Given the description of an element on the screen output the (x, y) to click on. 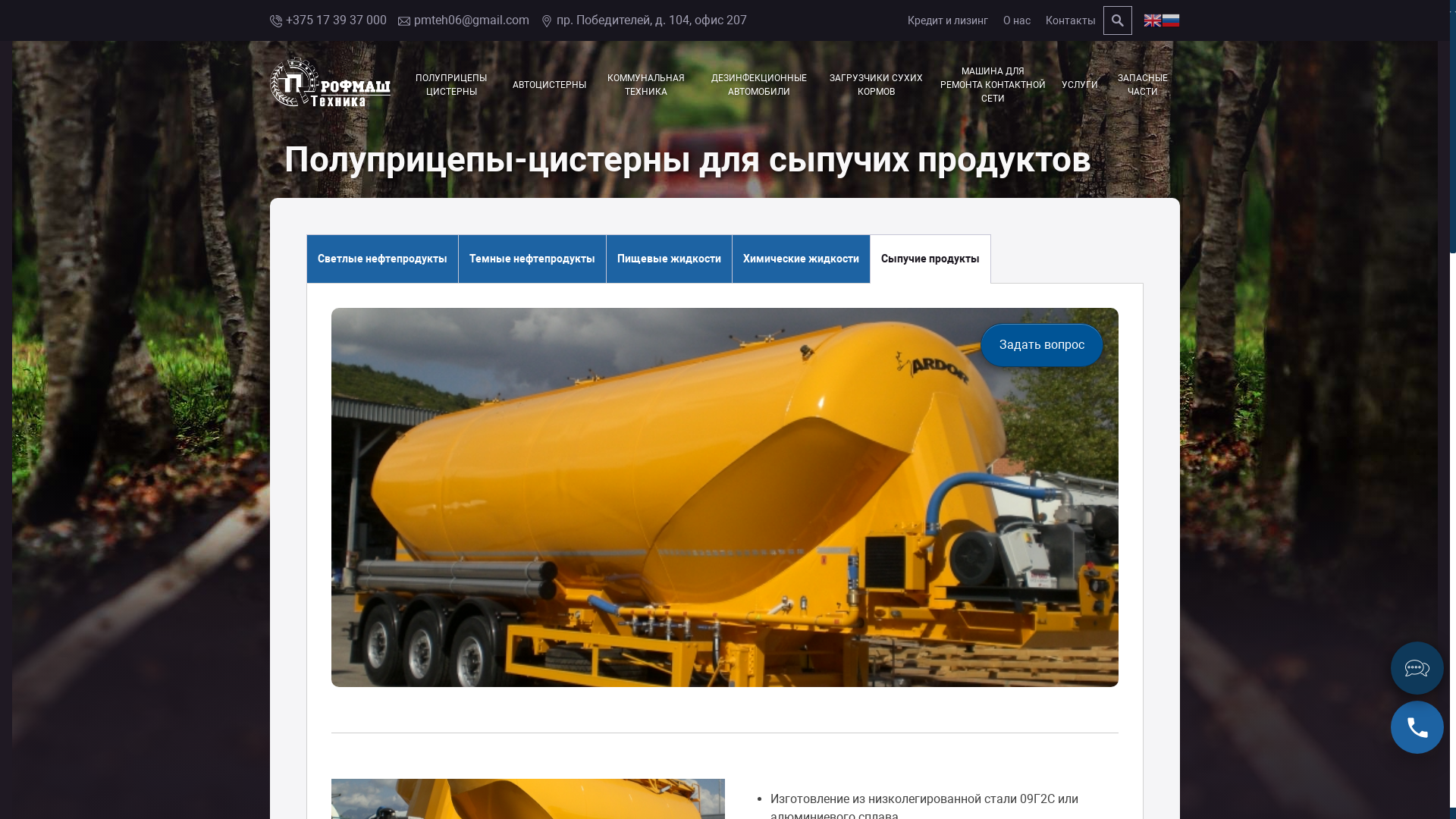
English Element type: hover (1152, 19)
Russian Element type: hover (1170, 19)
+375 17 39 37 000 Element type: text (327, 20)
pmteh06@gmail.com Element type: text (463, 20)
